Given the description of an element on the screen output the (x, y) to click on. 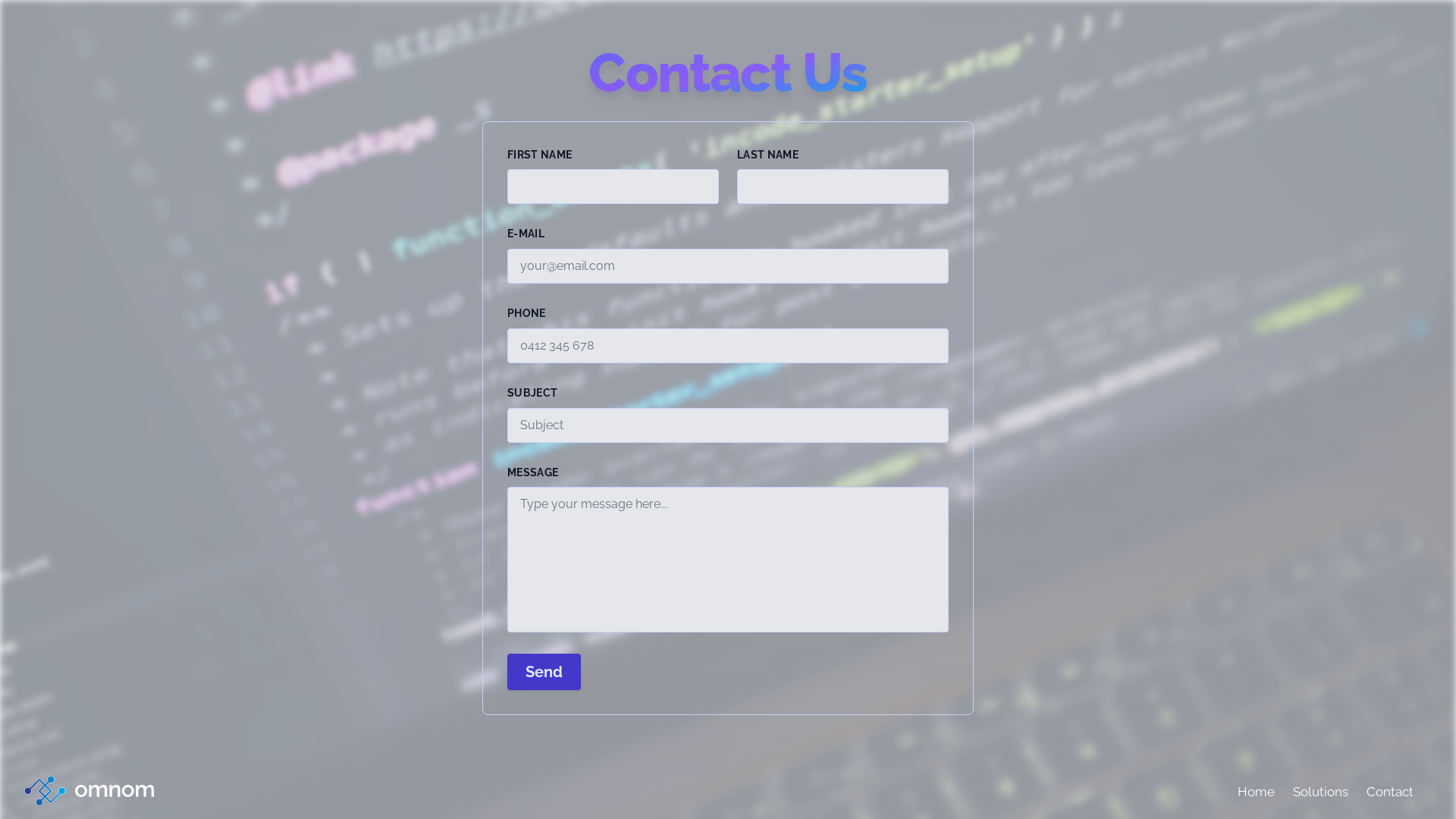
omnom Element type: text (88, 790)
Contact Element type: text (1389, 791)
Home Element type: text (1255, 791)
Solutions Element type: text (1320, 791)
Send Element type: text (543, 671)
